Given the description of an element on the screen output the (x, y) to click on. 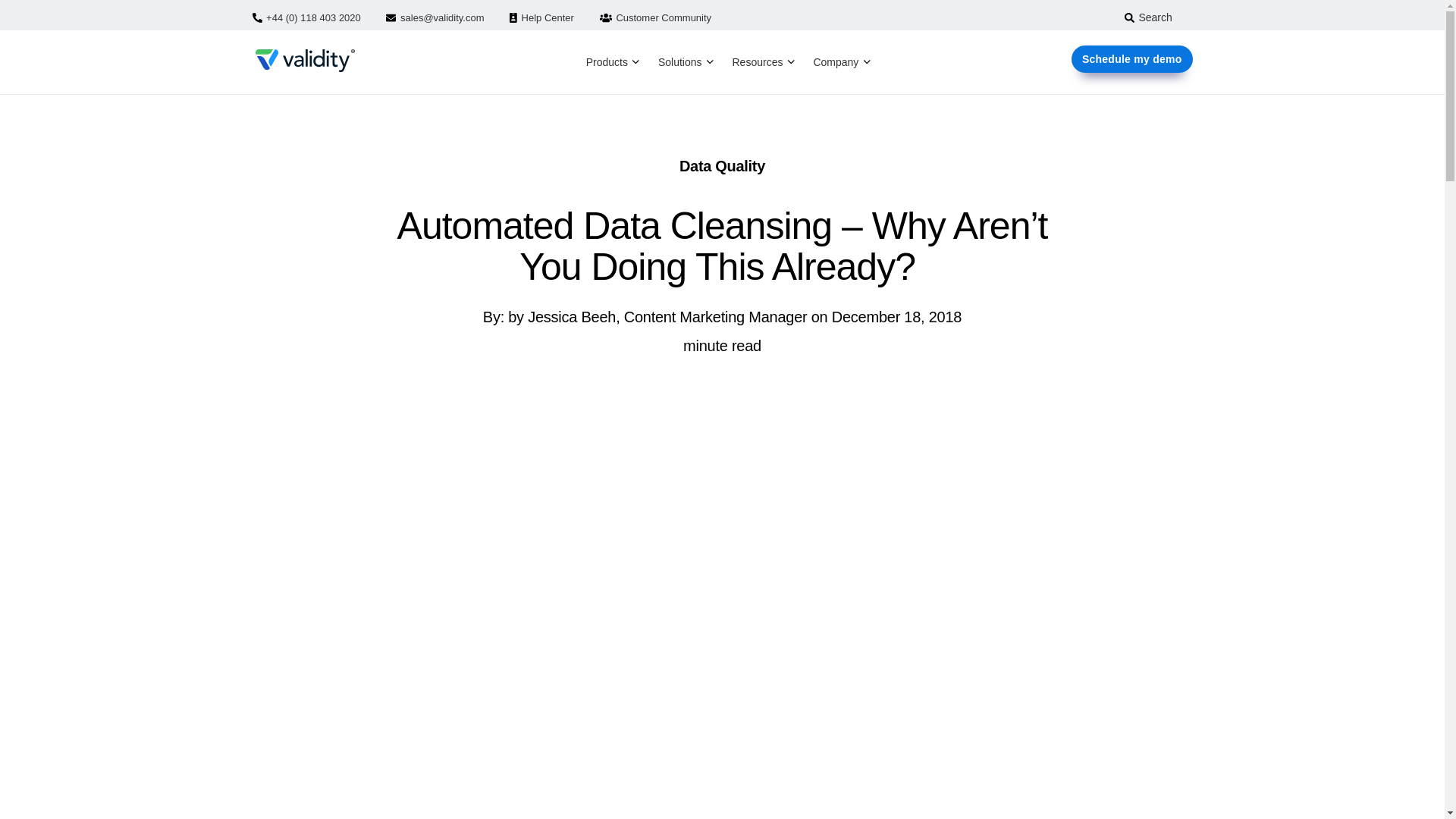
Help Center (541, 17)
Products (606, 62)
Solutions (680, 62)
Schedule my demo (1131, 58)
Customer Community (655, 17)
